Given the description of an element on the screen output the (x, y) to click on. 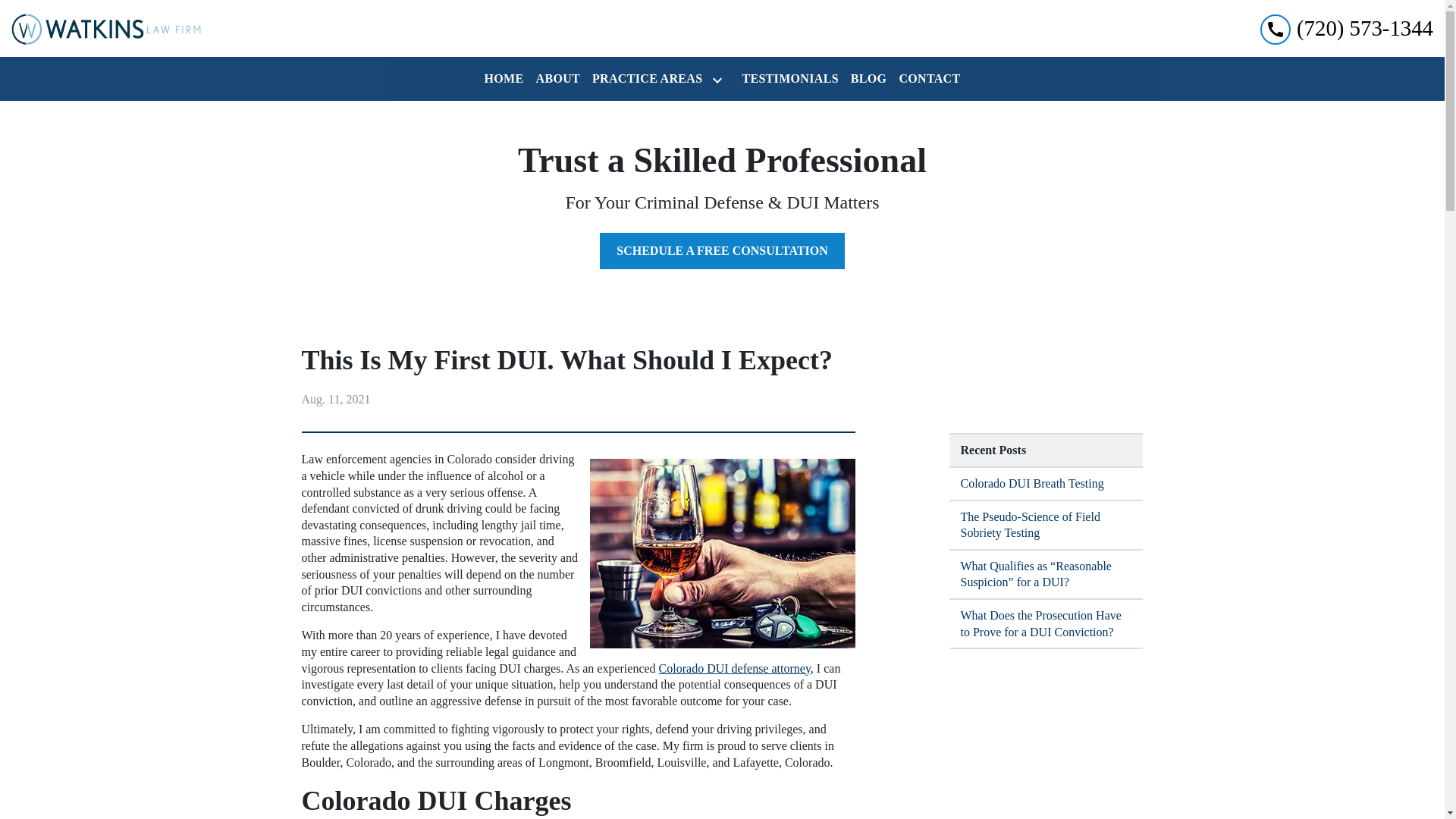
HOME (504, 78)
Colorado DUI Breath Testing (1045, 484)
BLOG (868, 78)
PRACTICE AREAS (643, 78)
CONTACT (929, 78)
ABOUT (557, 78)
SCHEDULE A FREE CONSULTATION (721, 250)
 Colorado DUI defense attorney (733, 667)
TESTIMONIALS (789, 78)
